Given the description of an element on the screen output the (x, y) to click on. 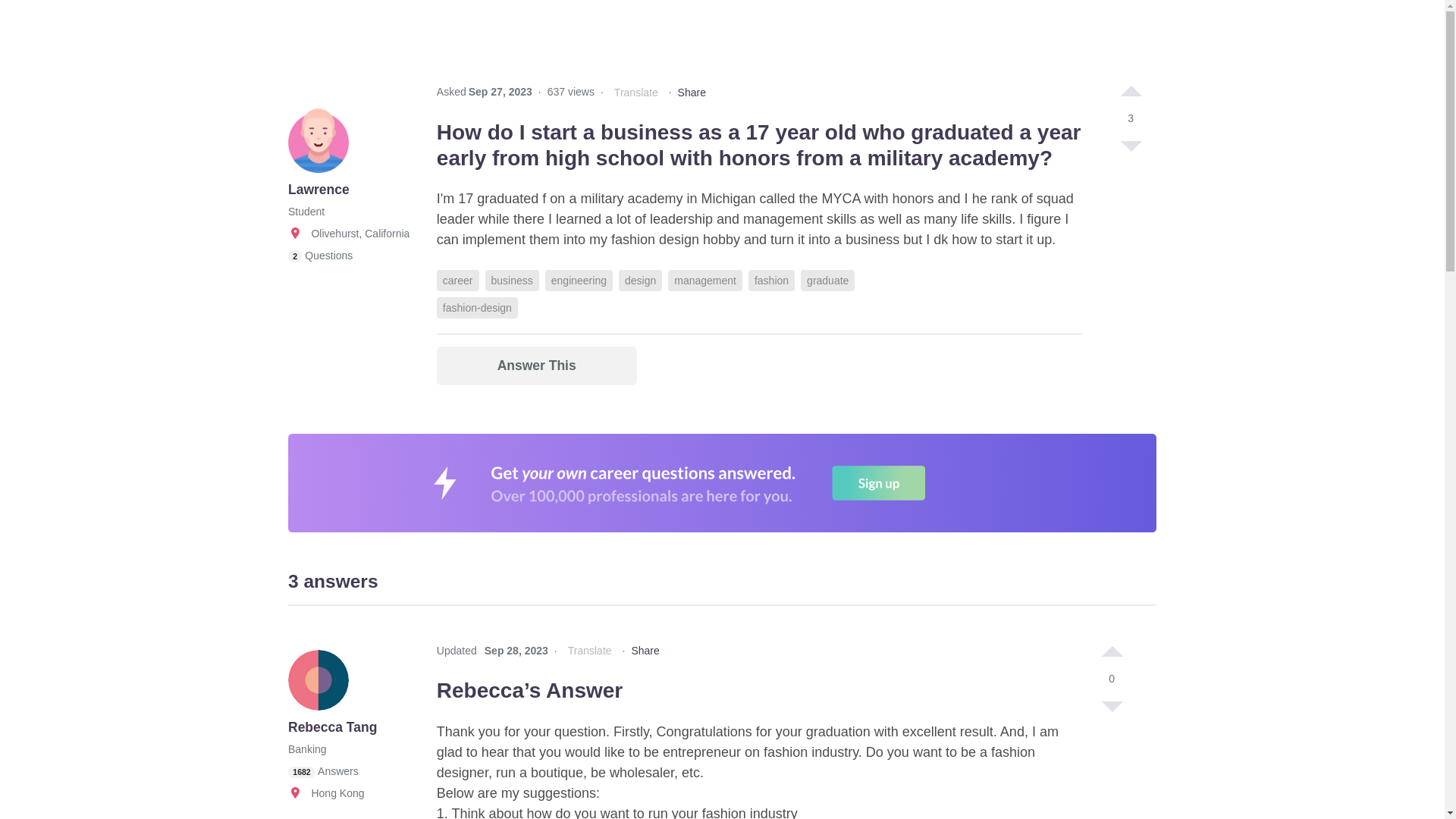
business (511, 280)
design (640, 280)
career (457, 280)
Share (692, 92)
fashion (771, 280)
graduate (827, 280)
fashion-design (477, 307)
engineering (578, 280)
Answer This (536, 365)
Translate (636, 92)
